Given the description of an element on the screen output the (x, y) to click on. 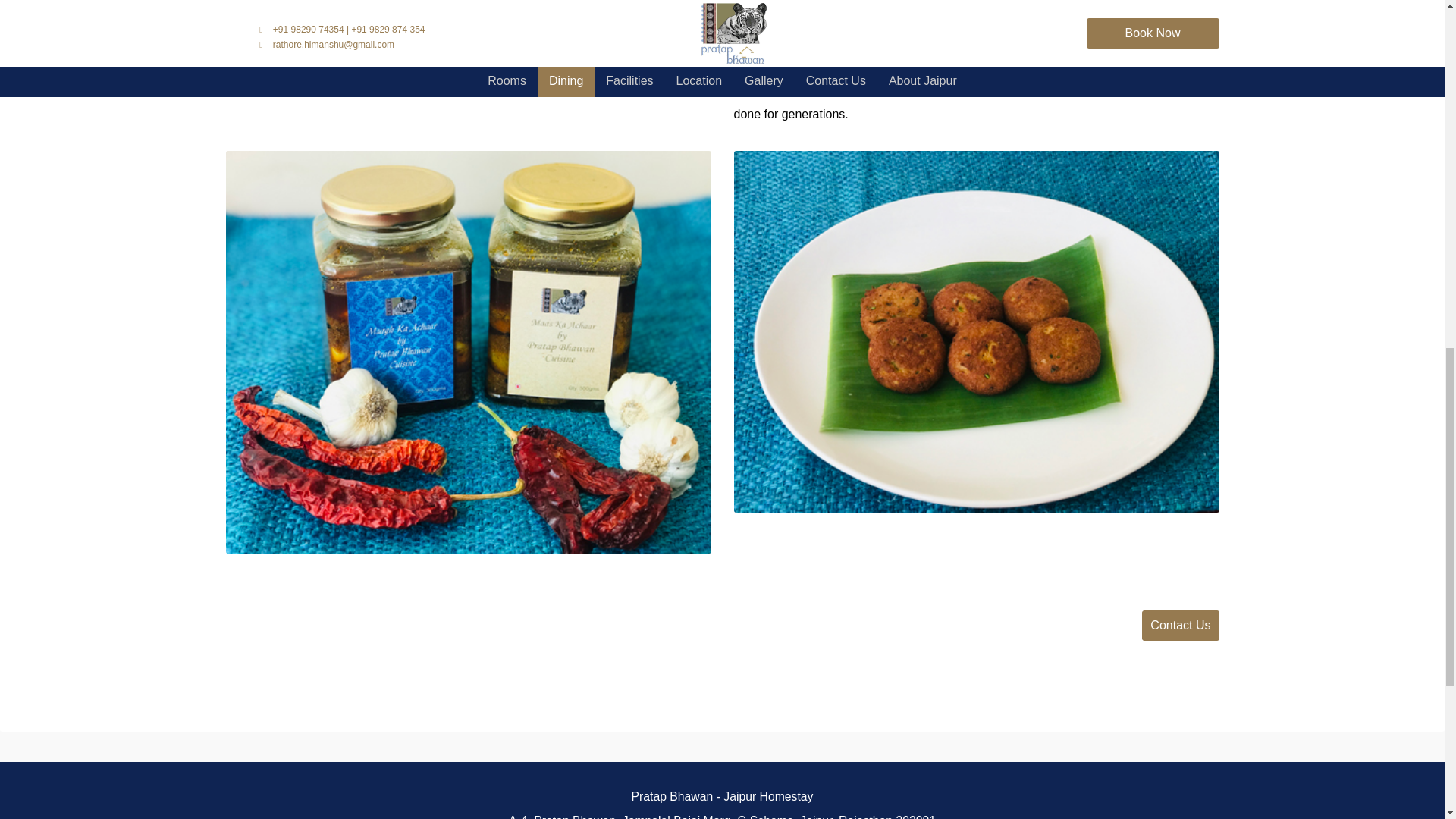
Contact Us (1179, 625)
